Given the description of an element on the screen output the (x, y) to click on. 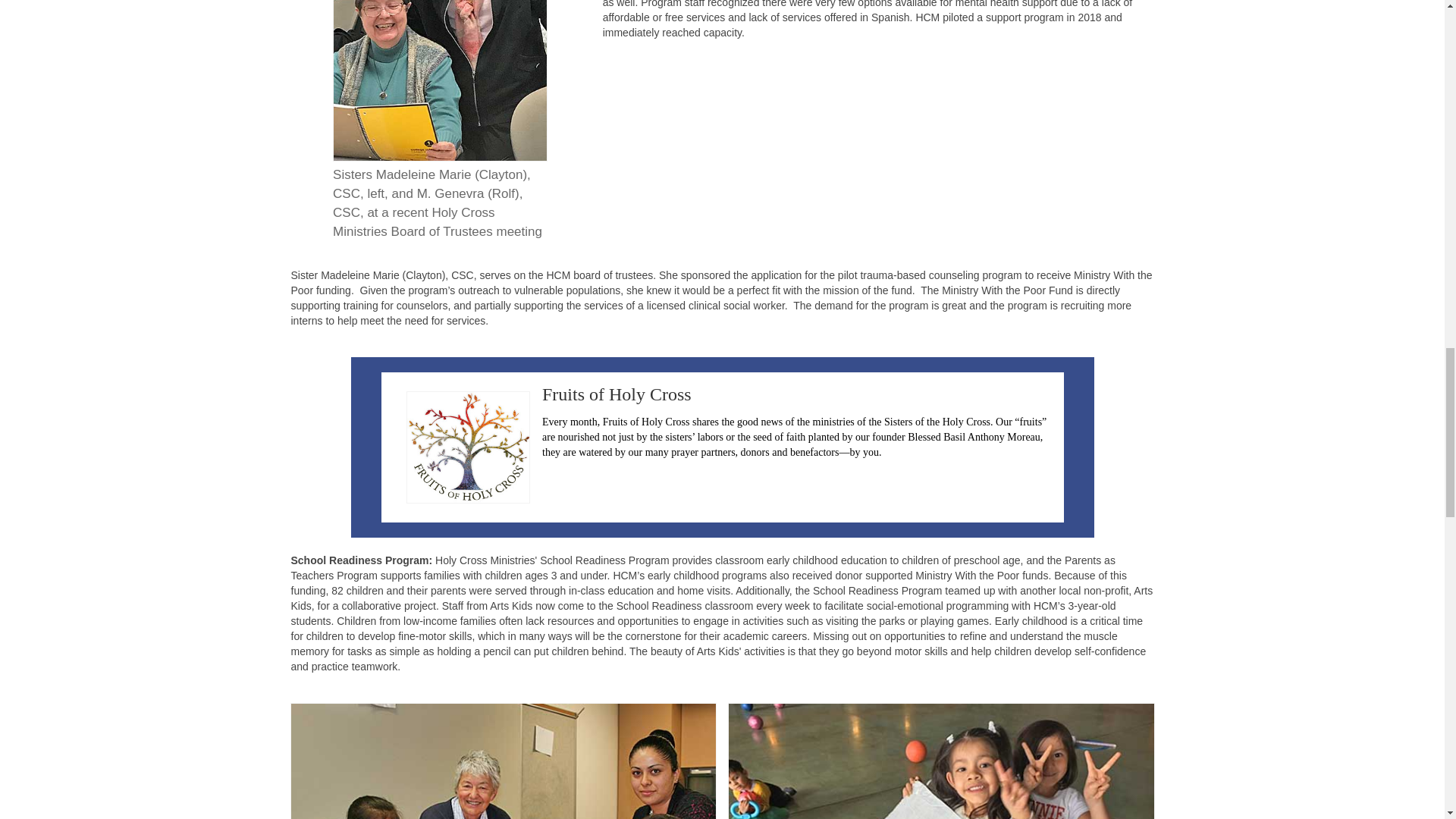
w-fruits-of-holy-cross (468, 447)
